Given the description of an element on the screen output the (x, y) to click on. 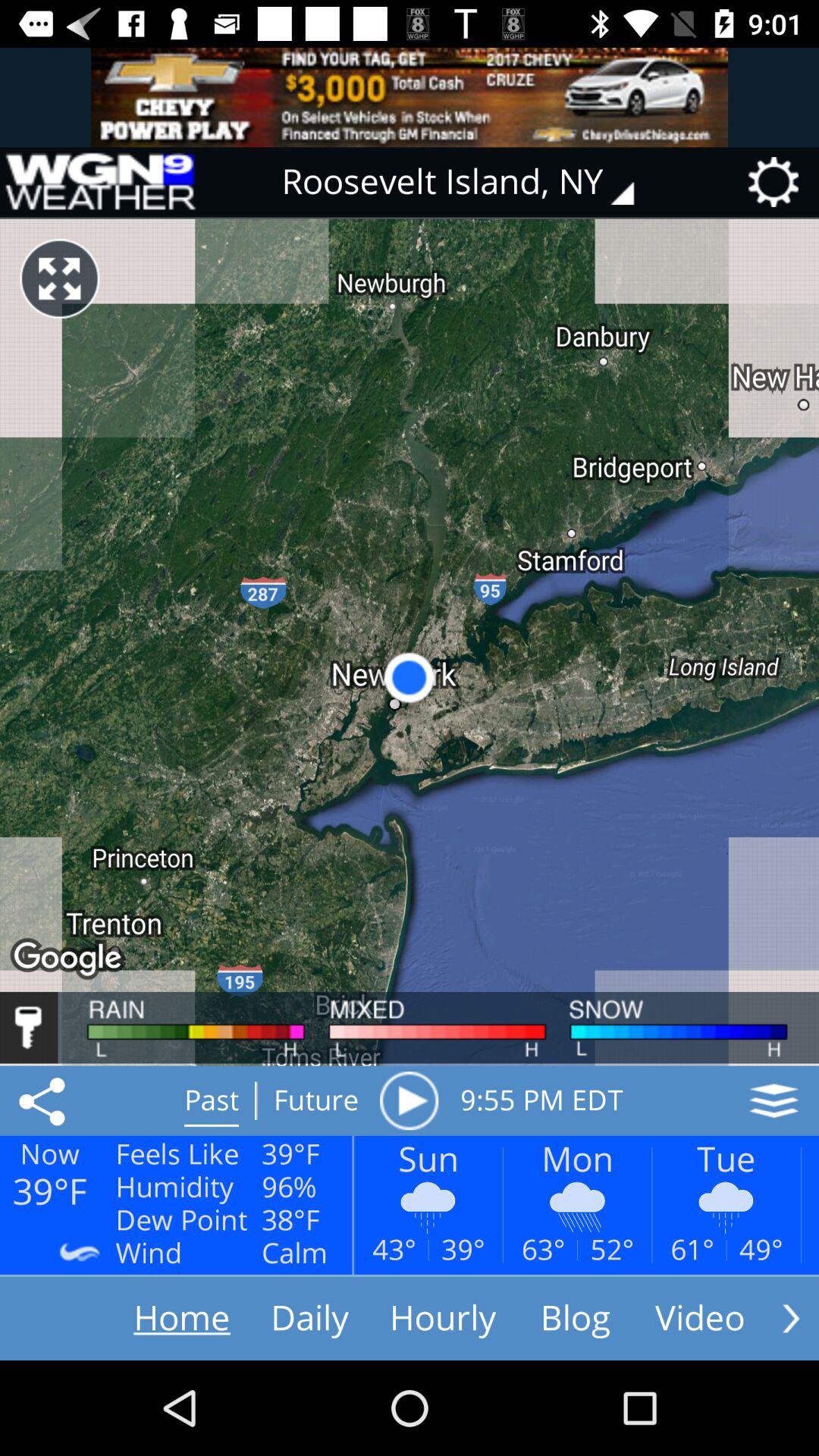
share this map (44, 1100)
